Given the description of an element on the screen output the (x, y) to click on. 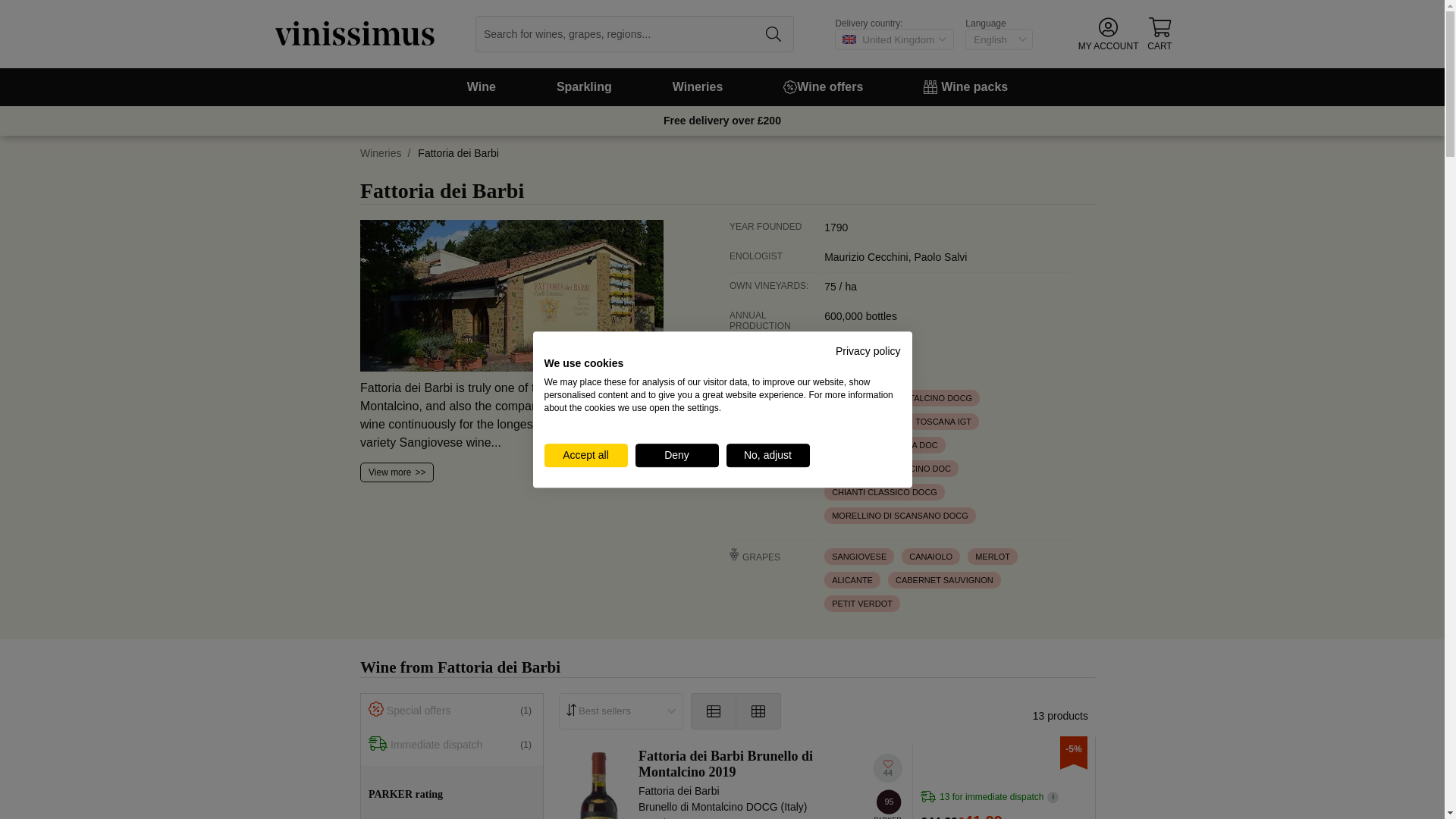
Wine (480, 86)
Sparkling (583, 86)
Wineries (698, 86)
Wine offers (822, 86)
Wine packs (965, 86)
